Given the description of an element on the screen output the (x, y) to click on. 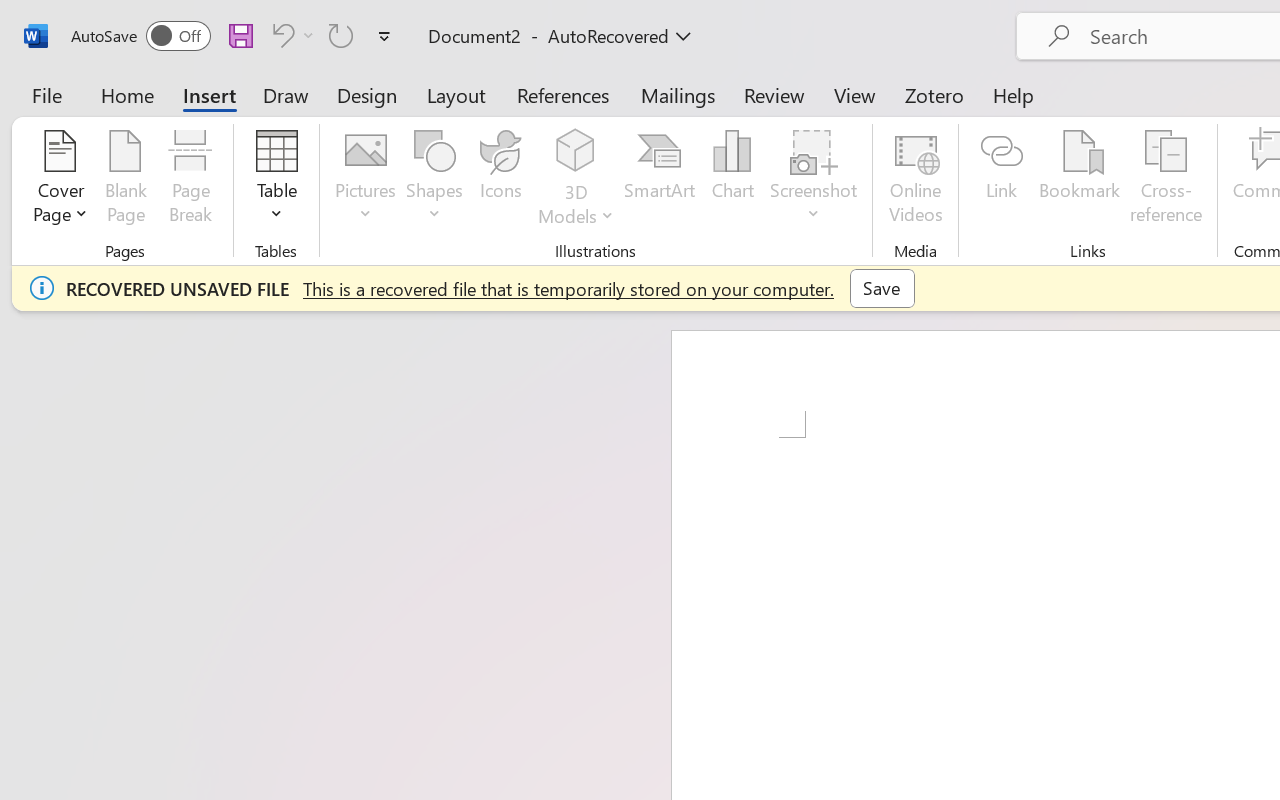
Can't Repeat (341, 35)
Shapes (435, 179)
Page Break (190, 179)
Icons (500, 179)
Can't Undo (280, 35)
Can't Undo (290, 35)
Help (1013, 94)
